Given the description of an element on the screen output the (x, y) to click on. 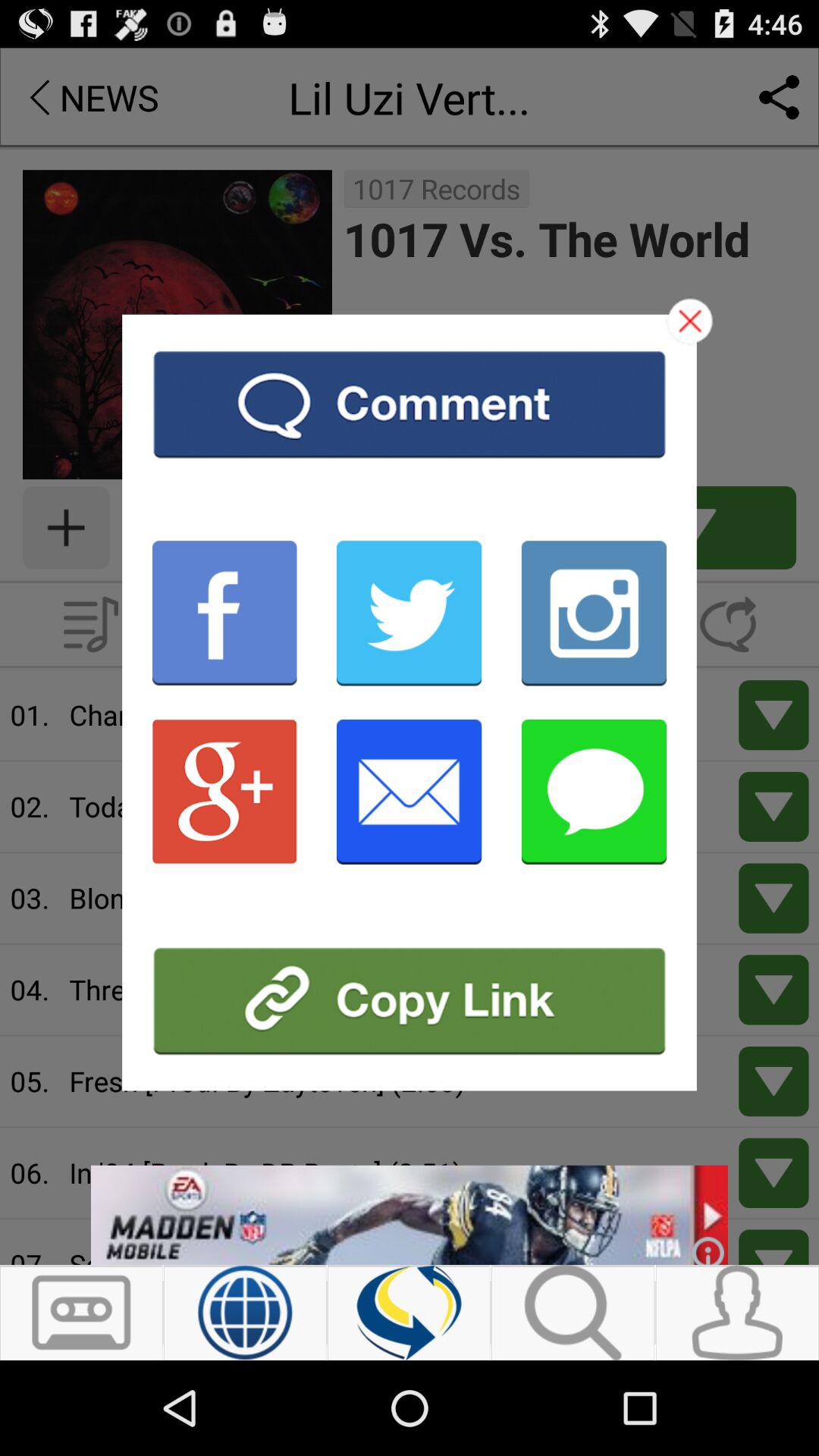
share by email (408, 791)
